Given the description of an element on the screen output the (x, y) to click on. 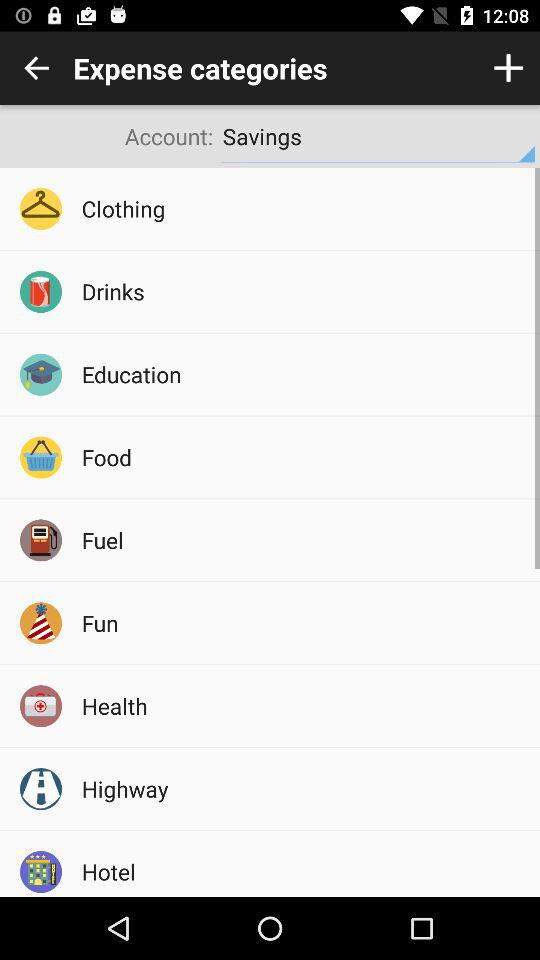
add item (508, 67)
